Given the description of an element on the screen output the (x, y) to click on. 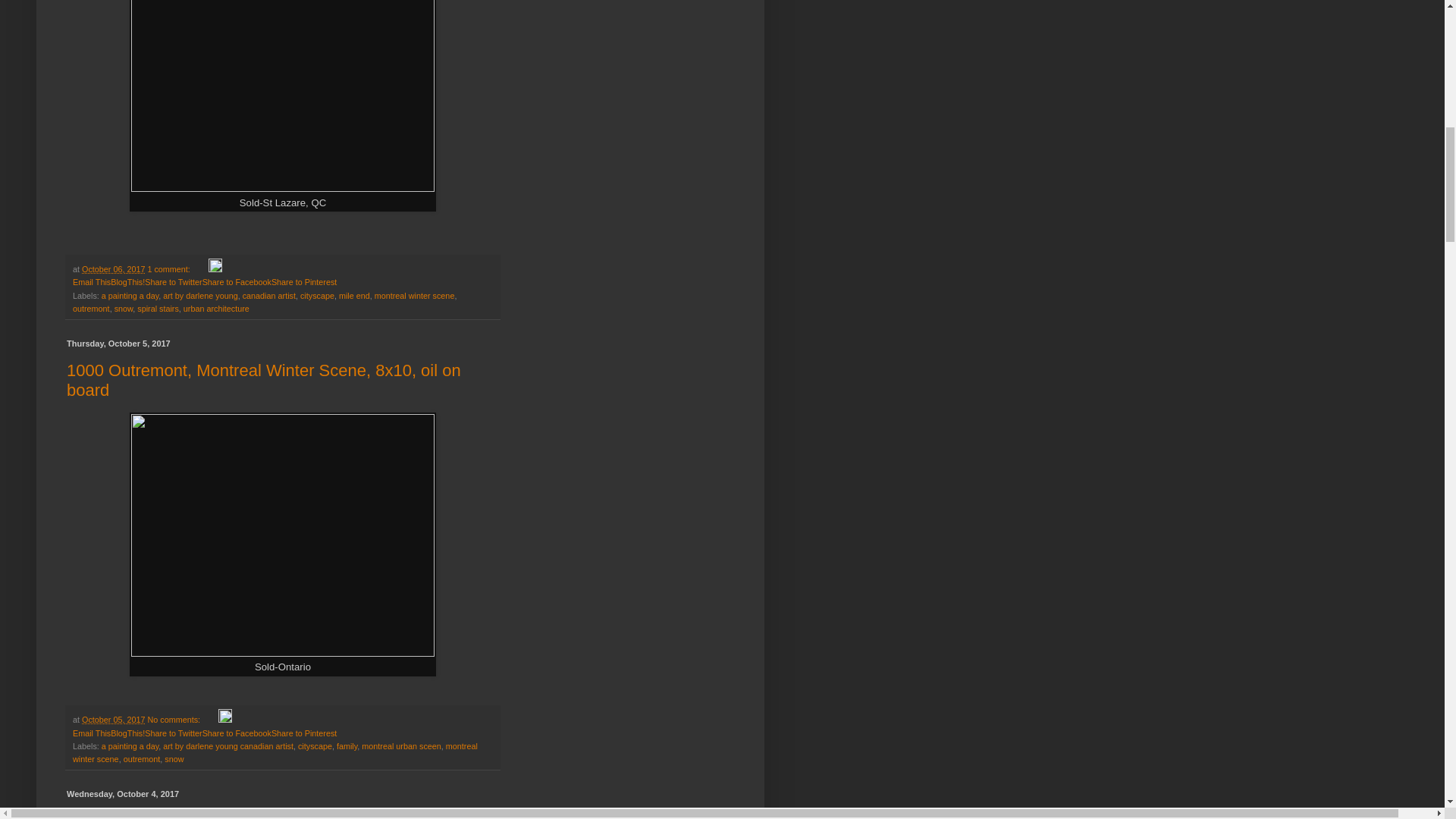
permanent link (112, 268)
outremont (91, 307)
Share to Facebook (236, 281)
Share to Facebook (236, 281)
October 06, 2017 (112, 268)
Email This (91, 281)
snow (124, 307)
BlogThis! (127, 281)
Share to Twitter (173, 281)
1 comment: (169, 268)
Share to Twitter (173, 281)
Email This (91, 281)
BlogThis! (127, 281)
cityscape (316, 295)
Edit Post (215, 268)
